Given the description of an element on the screen output the (x, y) to click on. 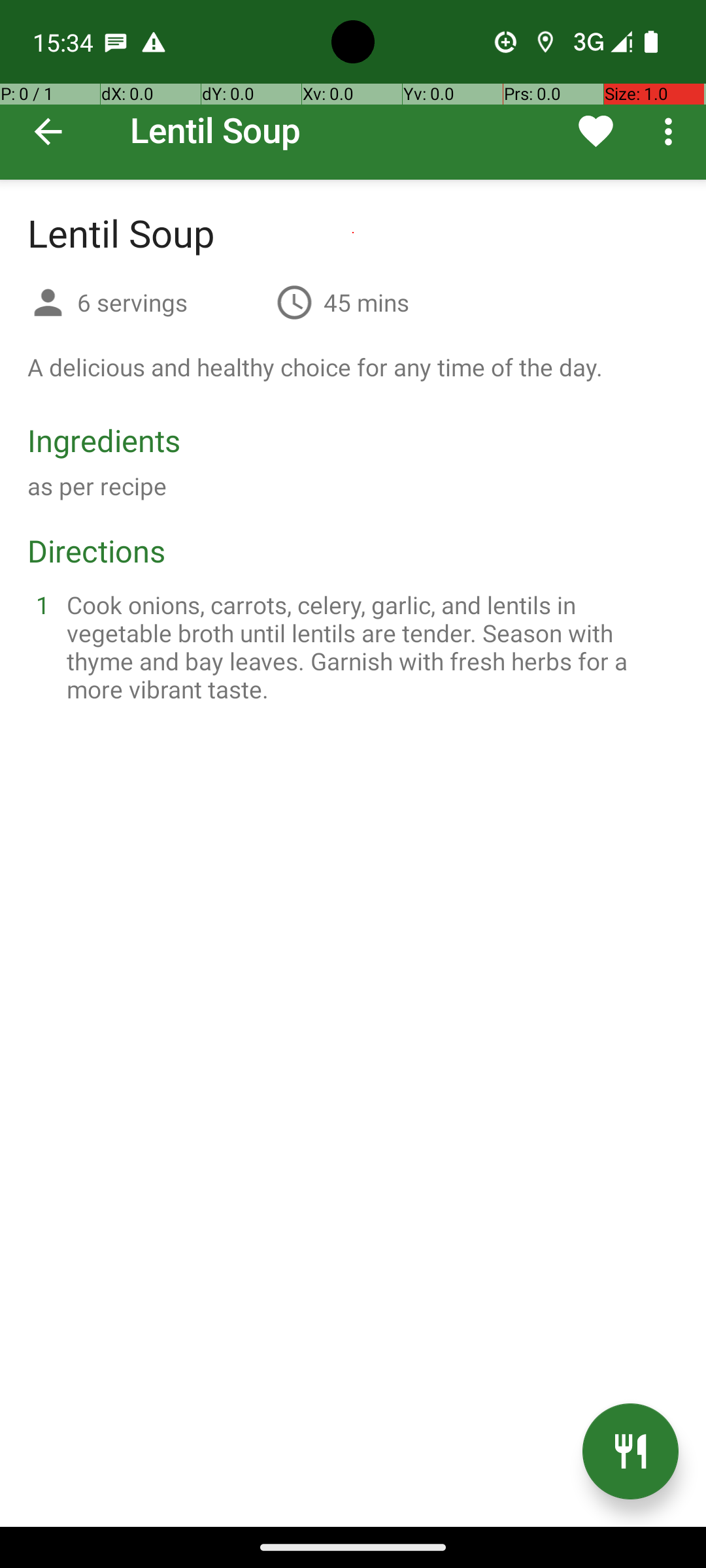
45 mins Element type: android.widget.TextView (366, 301)
as per recipe Element type: android.widget.TextView (96, 485)
Cook onions, carrots, celery, garlic, and lentils in vegetable broth until lentils are tender. Season with thyme and bay leaves. Garnish with fresh herbs for a more vibrant taste. Element type: android.widget.TextView (368, 646)
